Given the description of an element on the screen output the (x, y) to click on. 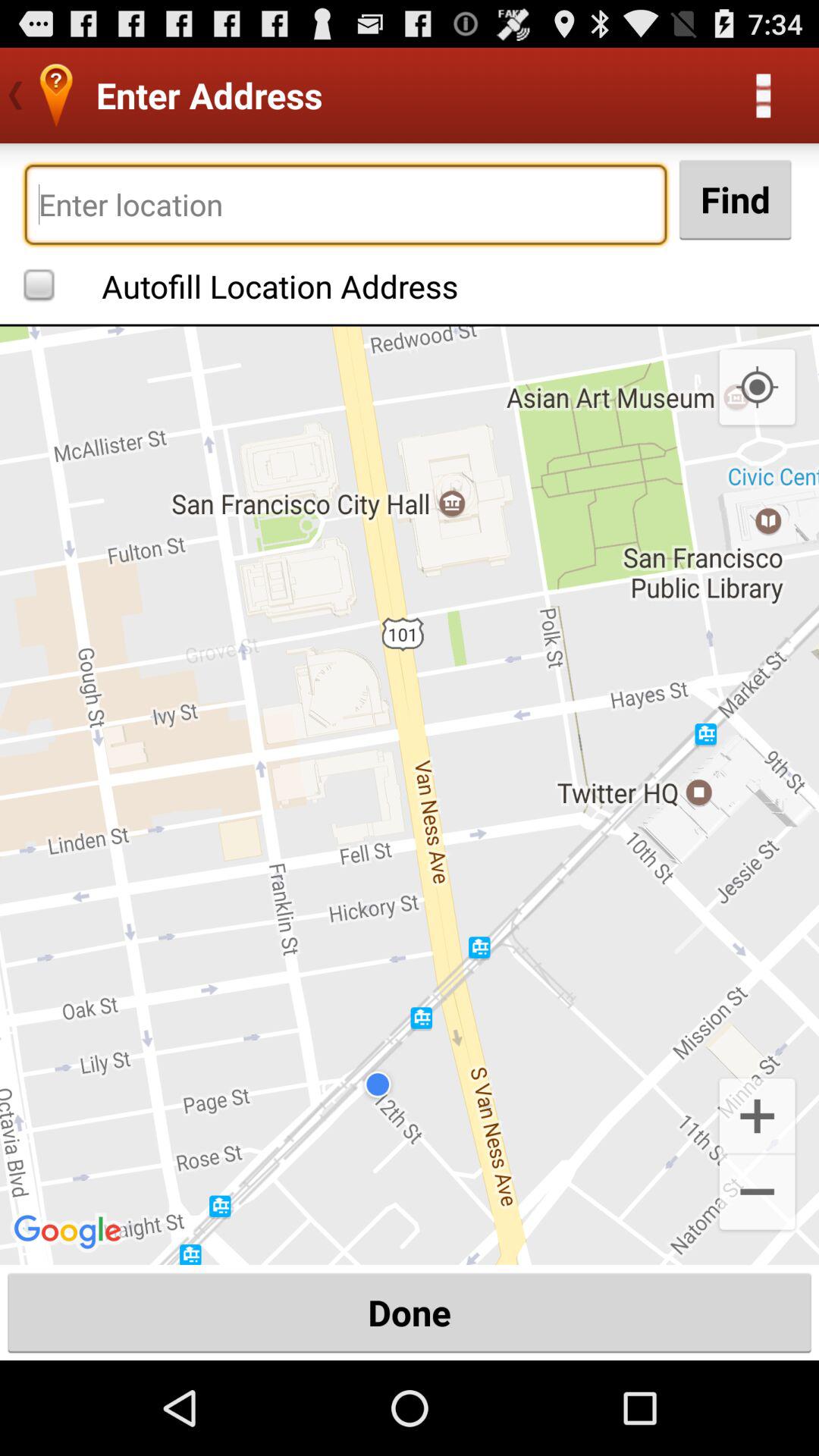
turn off the item above the done icon (757, 1193)
